Given the description of an element on the screen output the (x, y) to click on. 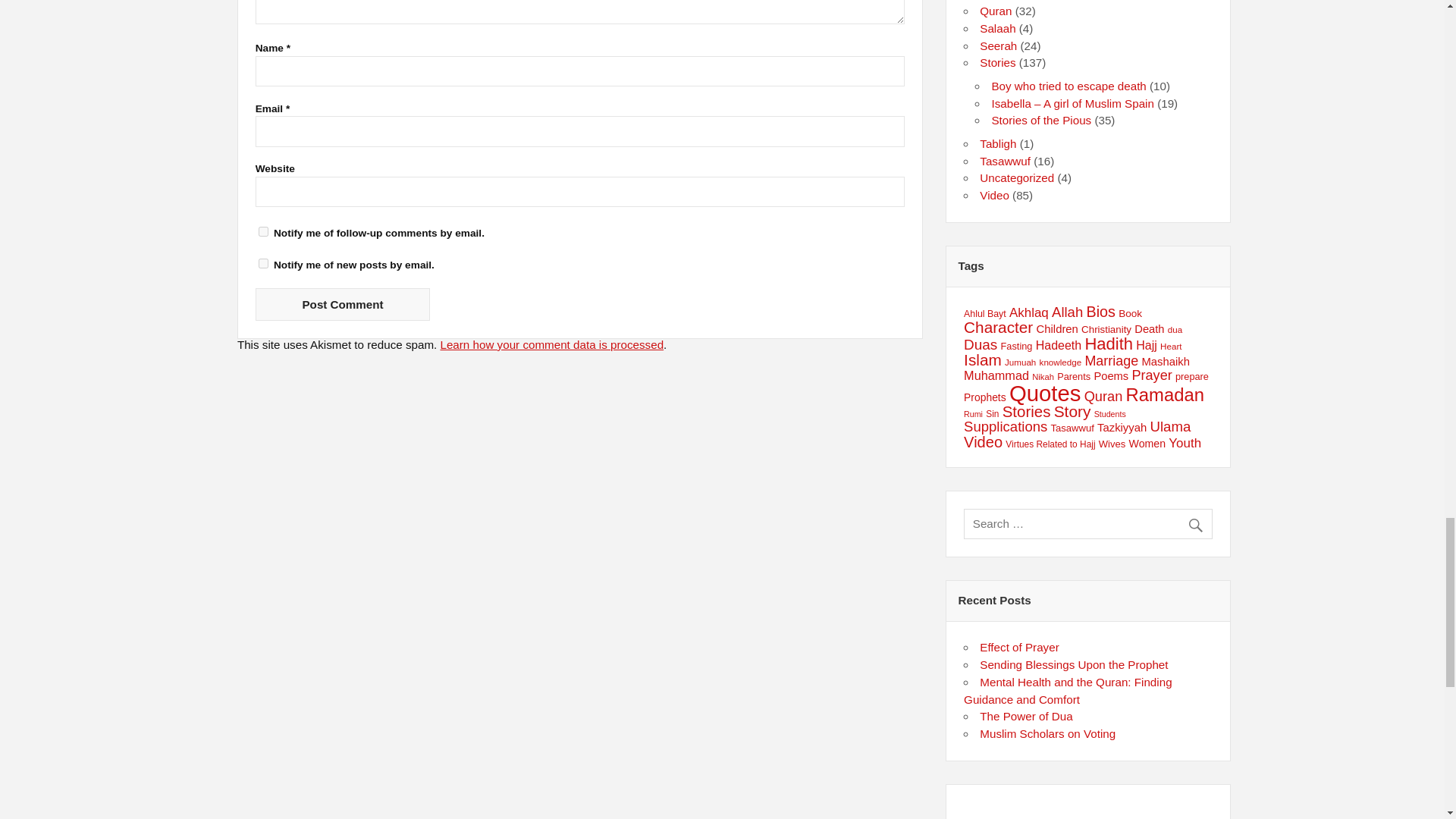
subscribe (263, 263)
subscribe (263, 231)
Post Comment (343, 304)
